Given the description of an element on the screen output the (x, y) to click on. 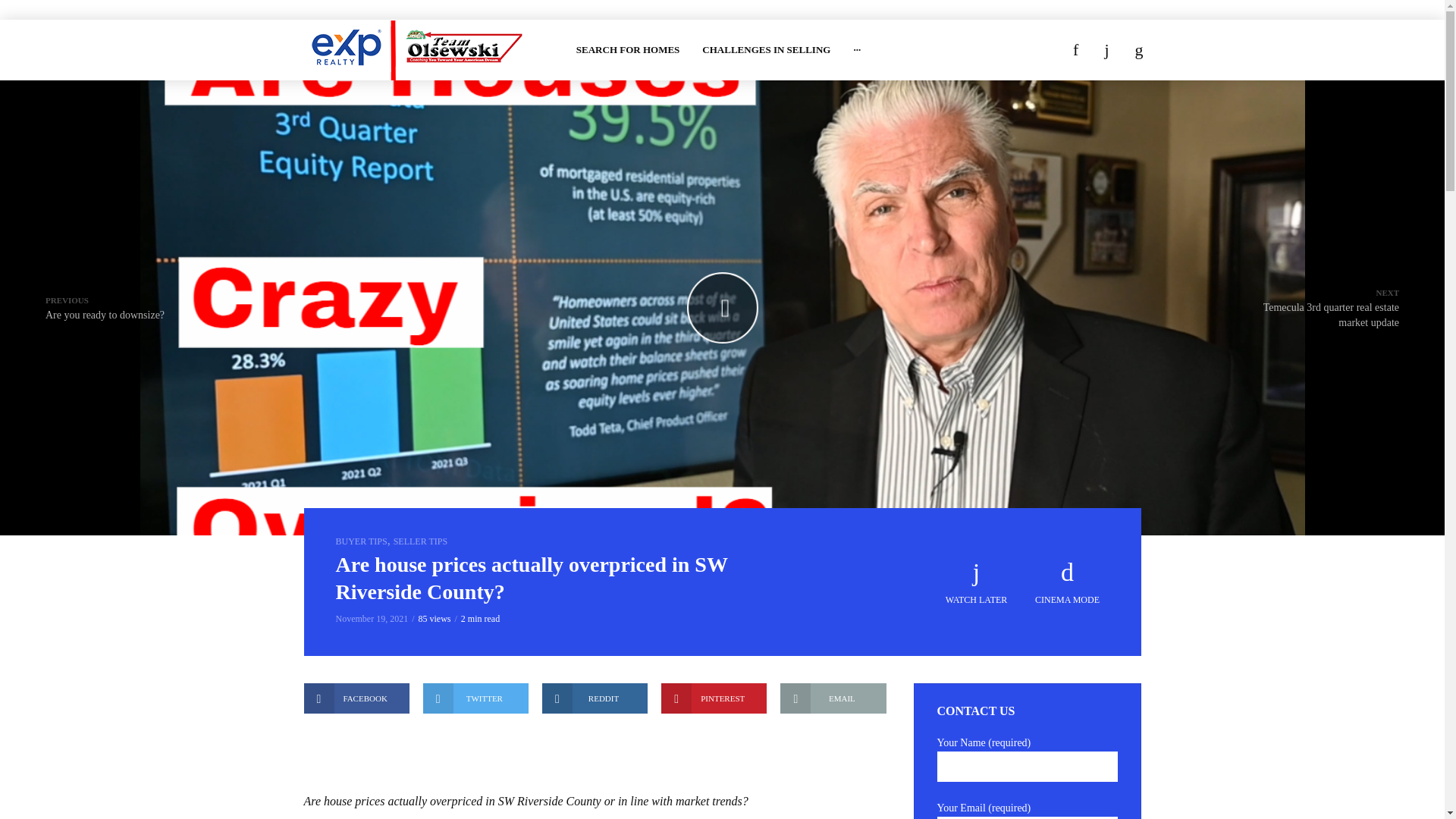
SEARCH FOR HOMES (627, 49)
CHALLENGES IN SELLING (765, 49)
